Given the description of an element on the screen output the (x, y) to click on. 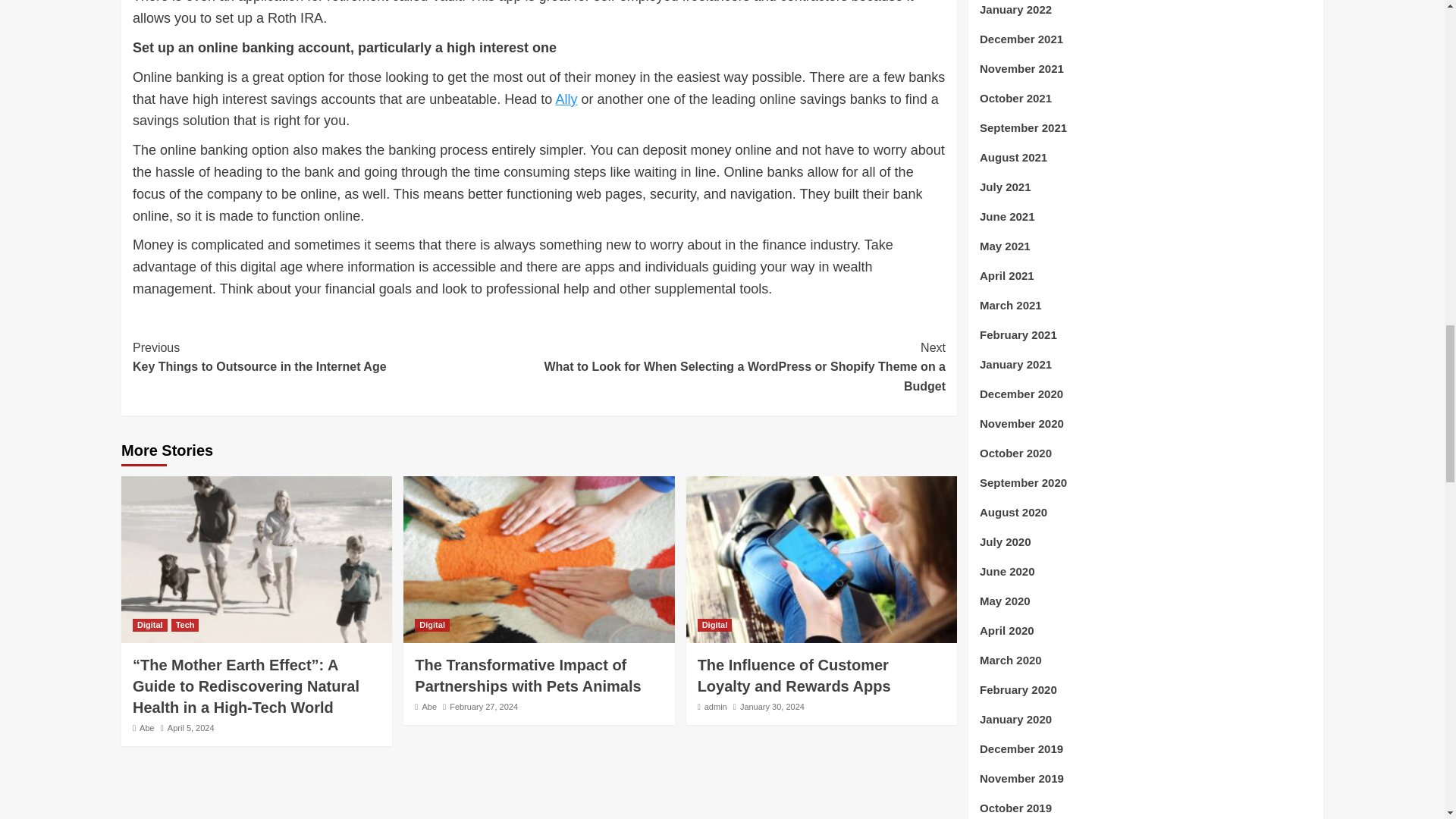
admin (715, 706)
Abe (146, 727)
January 30, 2024 (772, 706)
February 27, 2024 (483, 706)
Digital (149, 625)
Abe (429, 706)
The Influence of Customer Loyalty and Rewards Apps (794, 675)
Digital (431, 625)
